Given the description of an element on the screen output the (x, y) to click on. 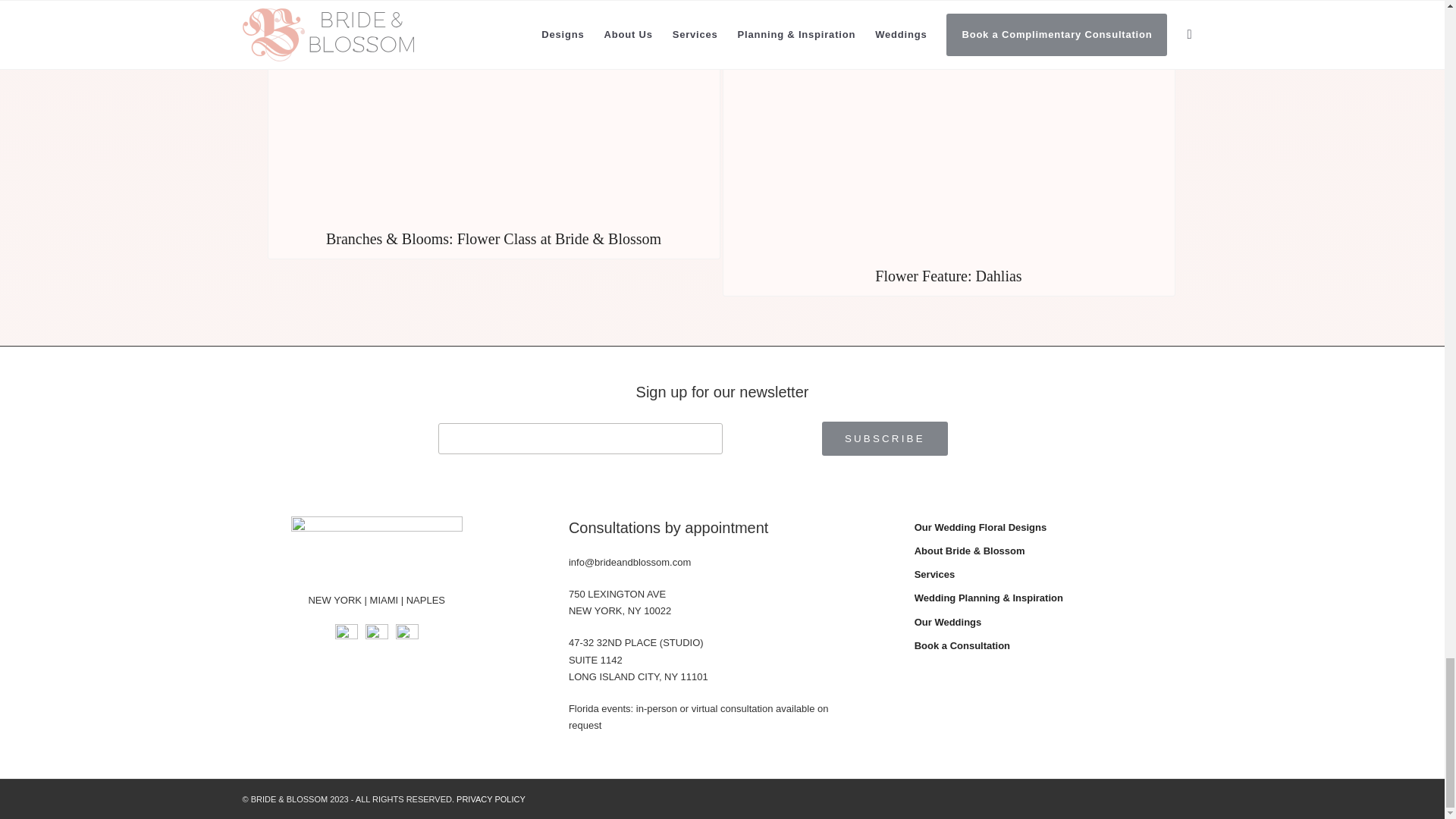
Subscribe (884, 438)
Subscribe (884, 438)
